Given the description of an element on the screen output the (x, y) to click on. 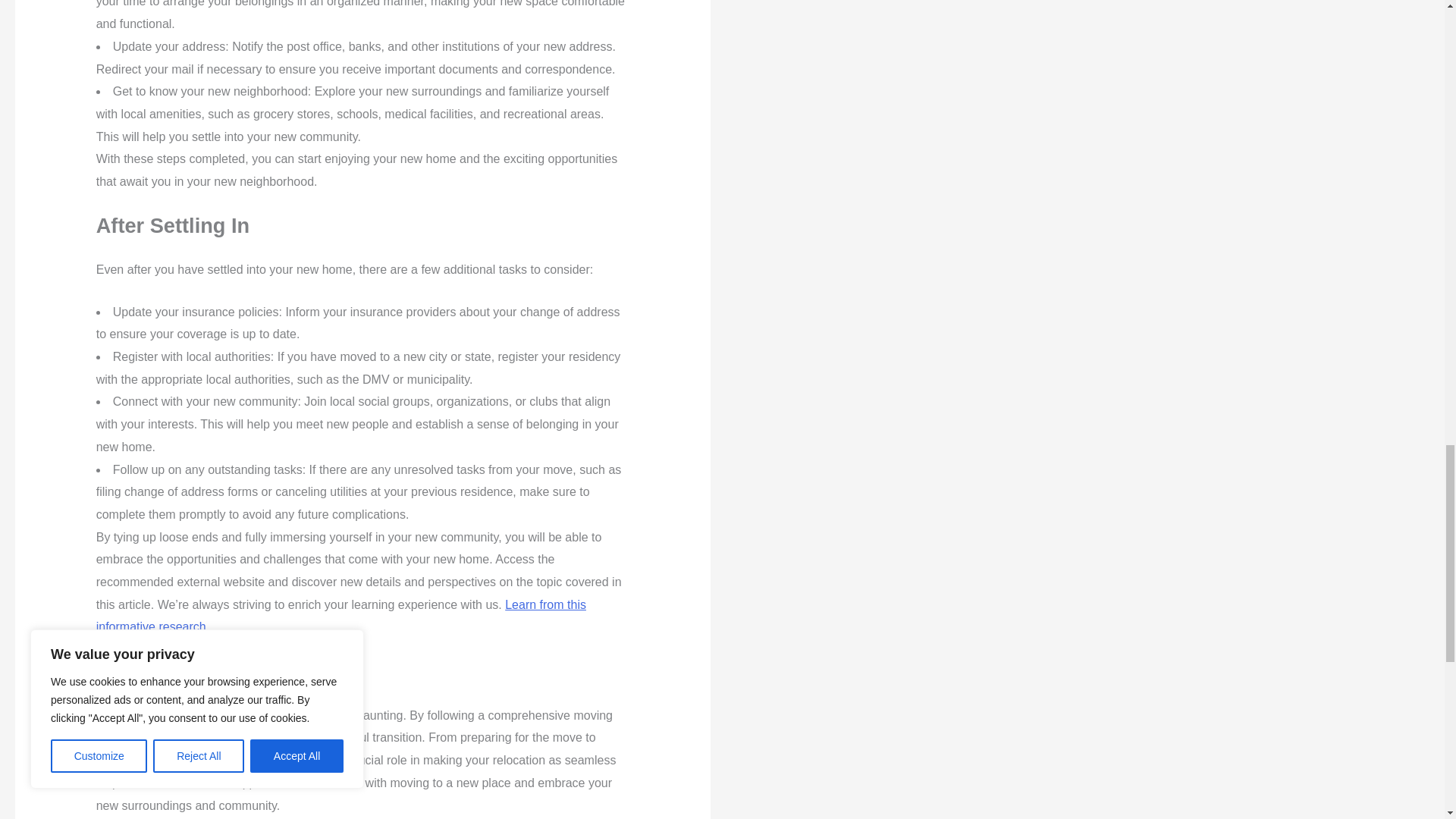
Learn from this informative research (341, 615)
